Given the description of an element on the screen output the (x, y) to click on. 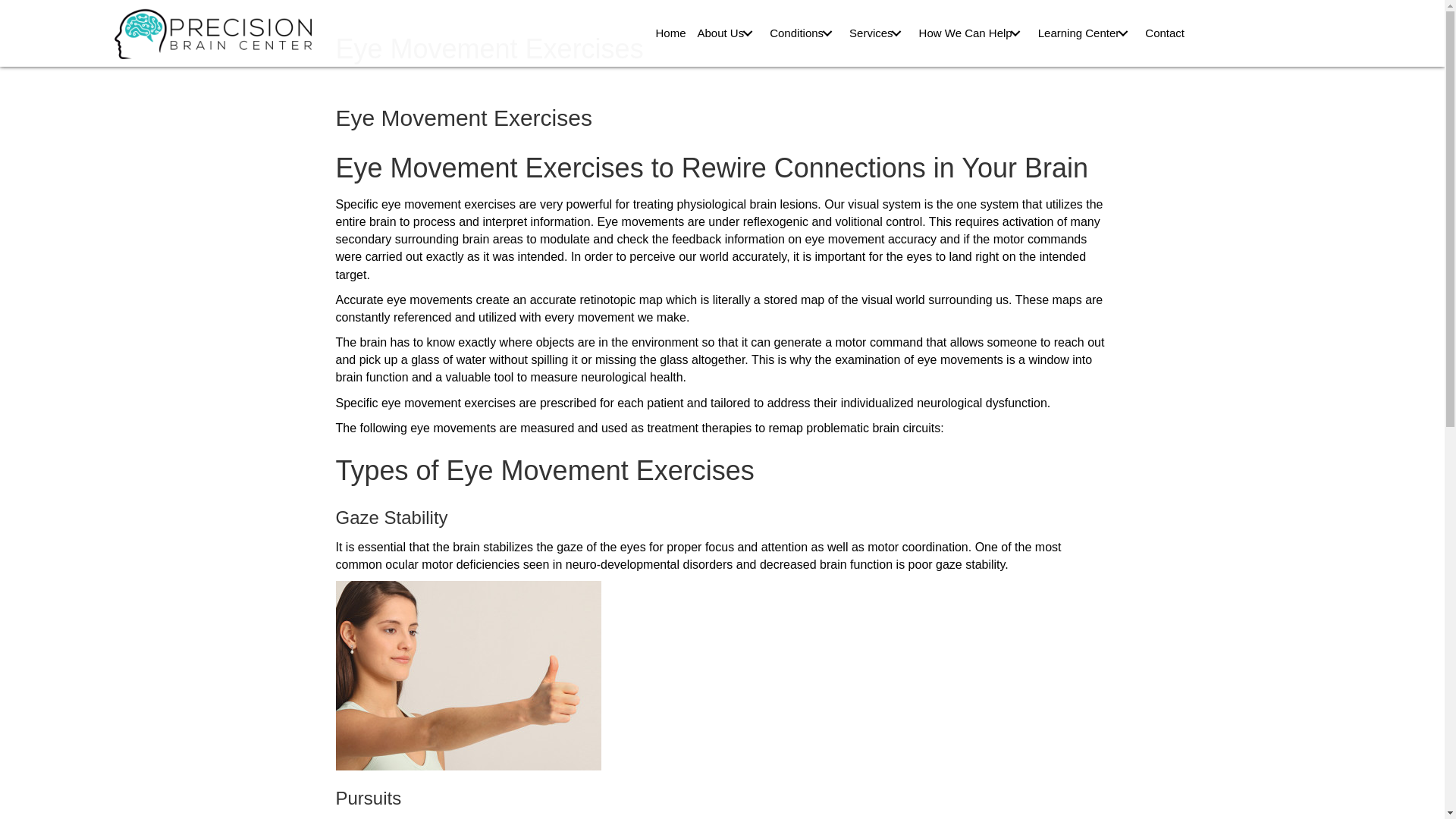
Contact (1164, 33)
Services (878, 33)
Home (669, 33)
Conditions (803, 33)
Precision Brain Center Horizontal Layout-resized (213, 32)
How We Can Help (972, 33)
Learning Center (1085, 33)
About Us (727, 33)
